Given the description of an element on the screen output the (x, y) to click on. 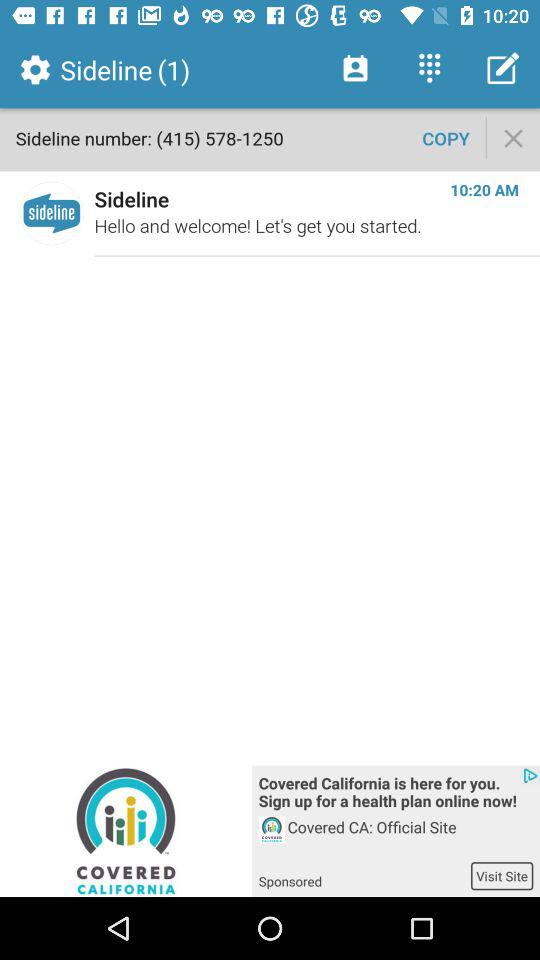
press item to the right of sideline number 415 item (446, 138)
